Given the description of an element on the screen output the (x, y) to click on. 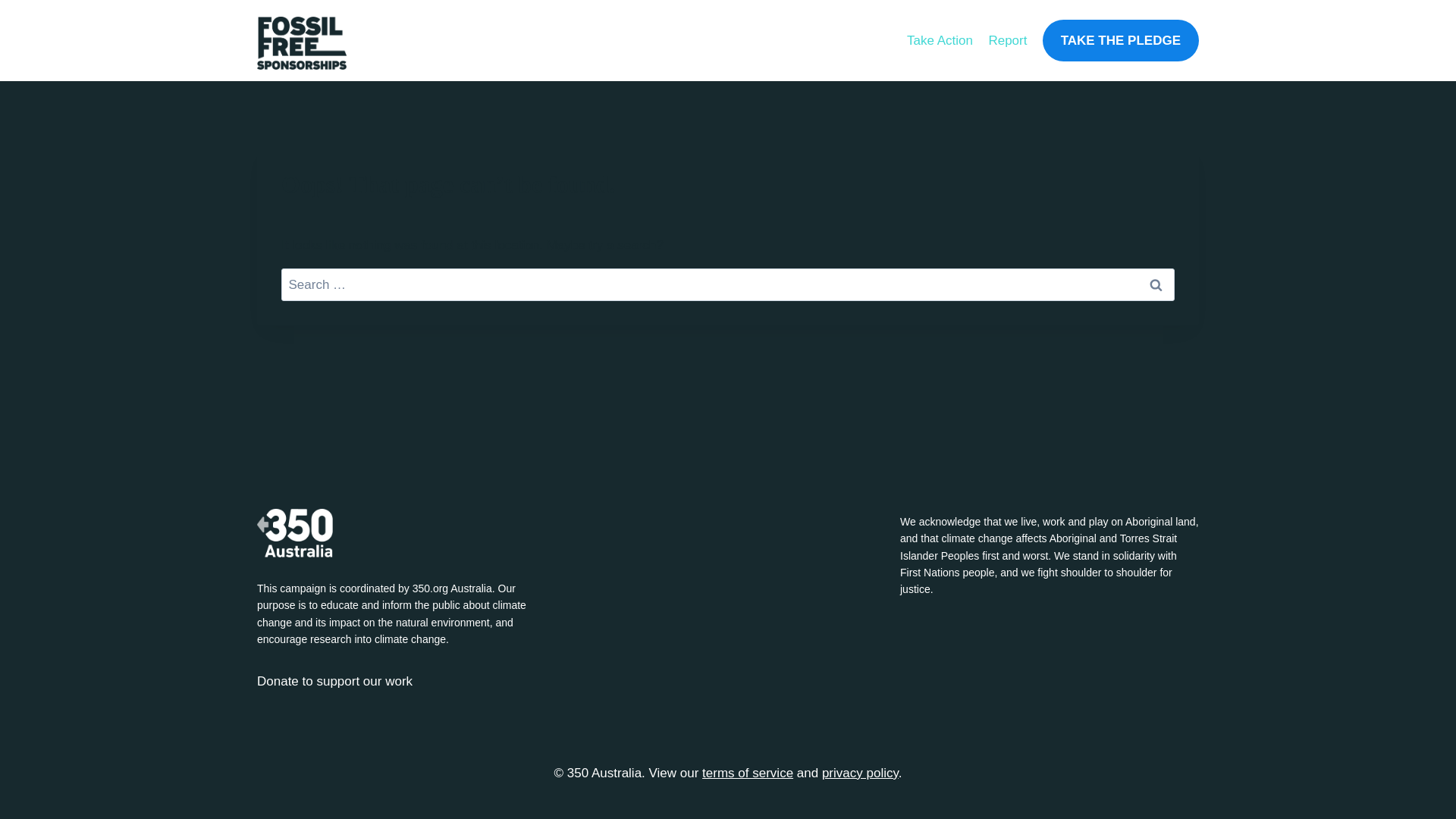
Search Element type: text (1155, 284)
Donate to support our work Element type: text (334, 681)
Take Action Element type: text (939, 40)
privacy policy Element type: text (860, 772)
TAKE THE PLEDGE Element type: text (1120, 40)
Report Element type: text (1007, 40)
terms of service Element type: text (747, 772)
